Given the description of an element on the screen output the (x, y) to click on. 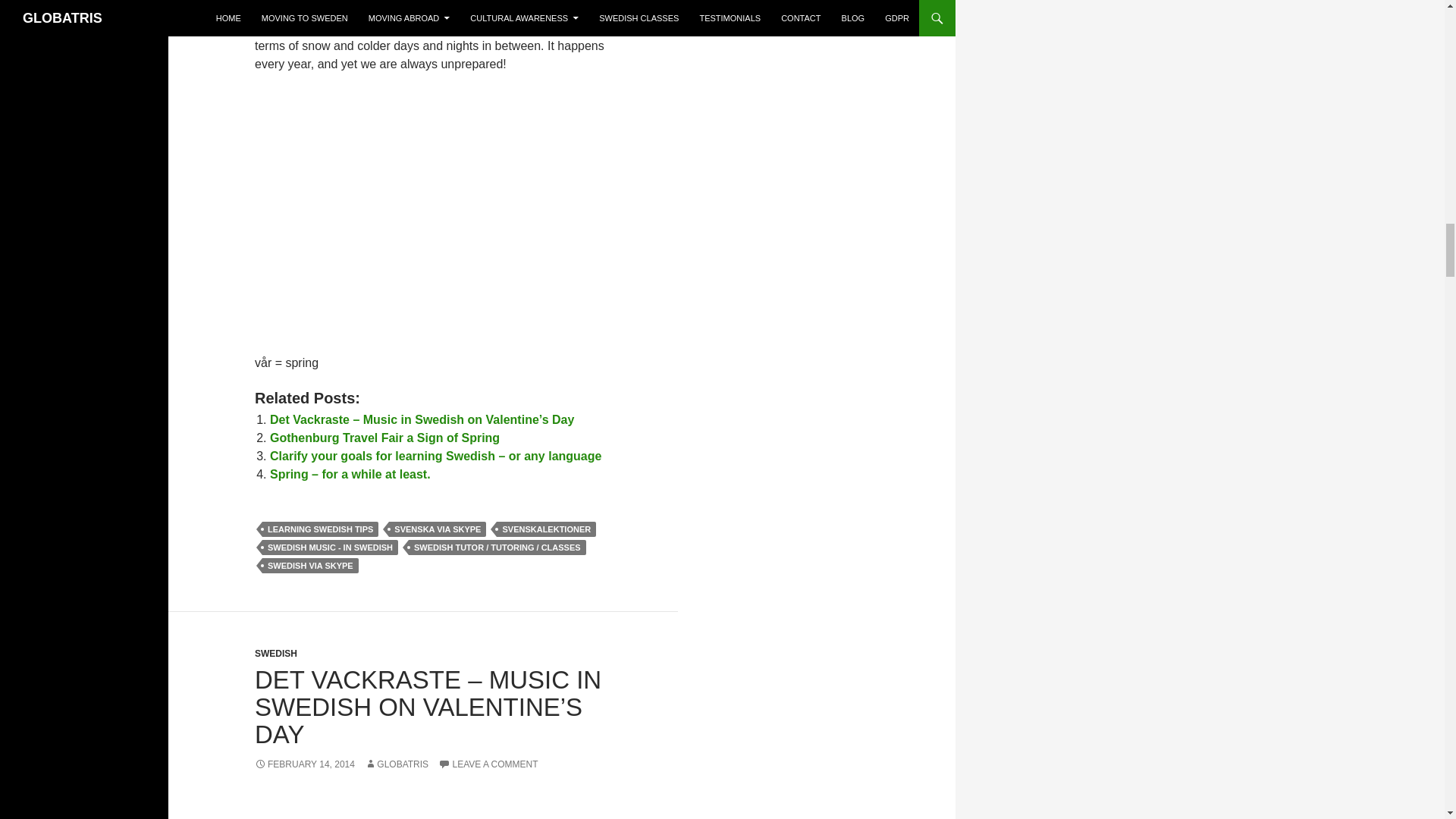
Gothenburg Travel Fair a Sign of Spring (384, 437)
